Given the description of an element on the screen output the (x, y) to click on. 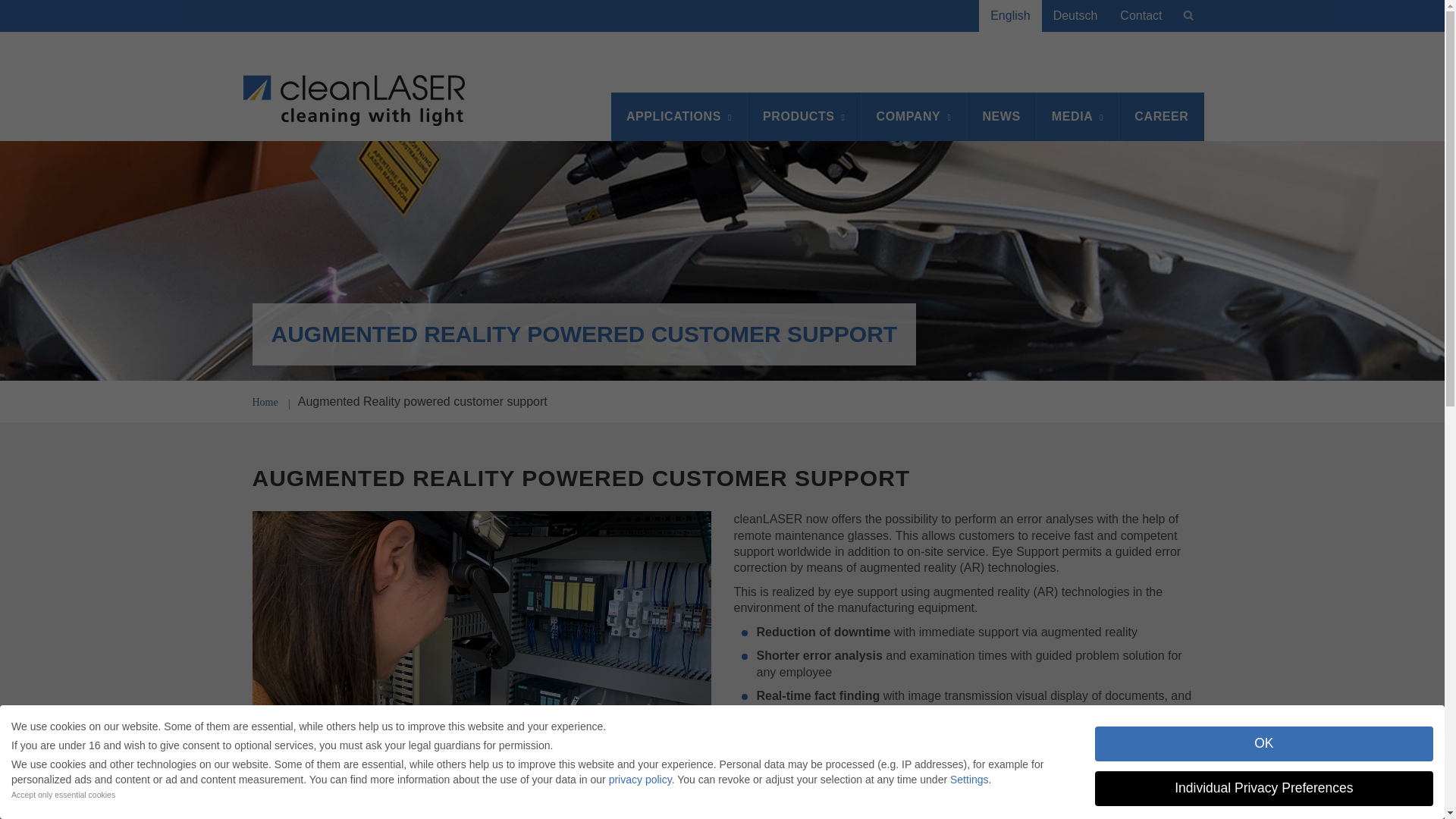
Go to cleanLASER. (264, 400)
Contact (1140, 15)
Deutsch (1075, 15)
English (1009, 15)
PRODUCTS (804, 116)
APPLICATIONS (679, 116)
